Given the description of an element on the screen output the (x, y) to click on. 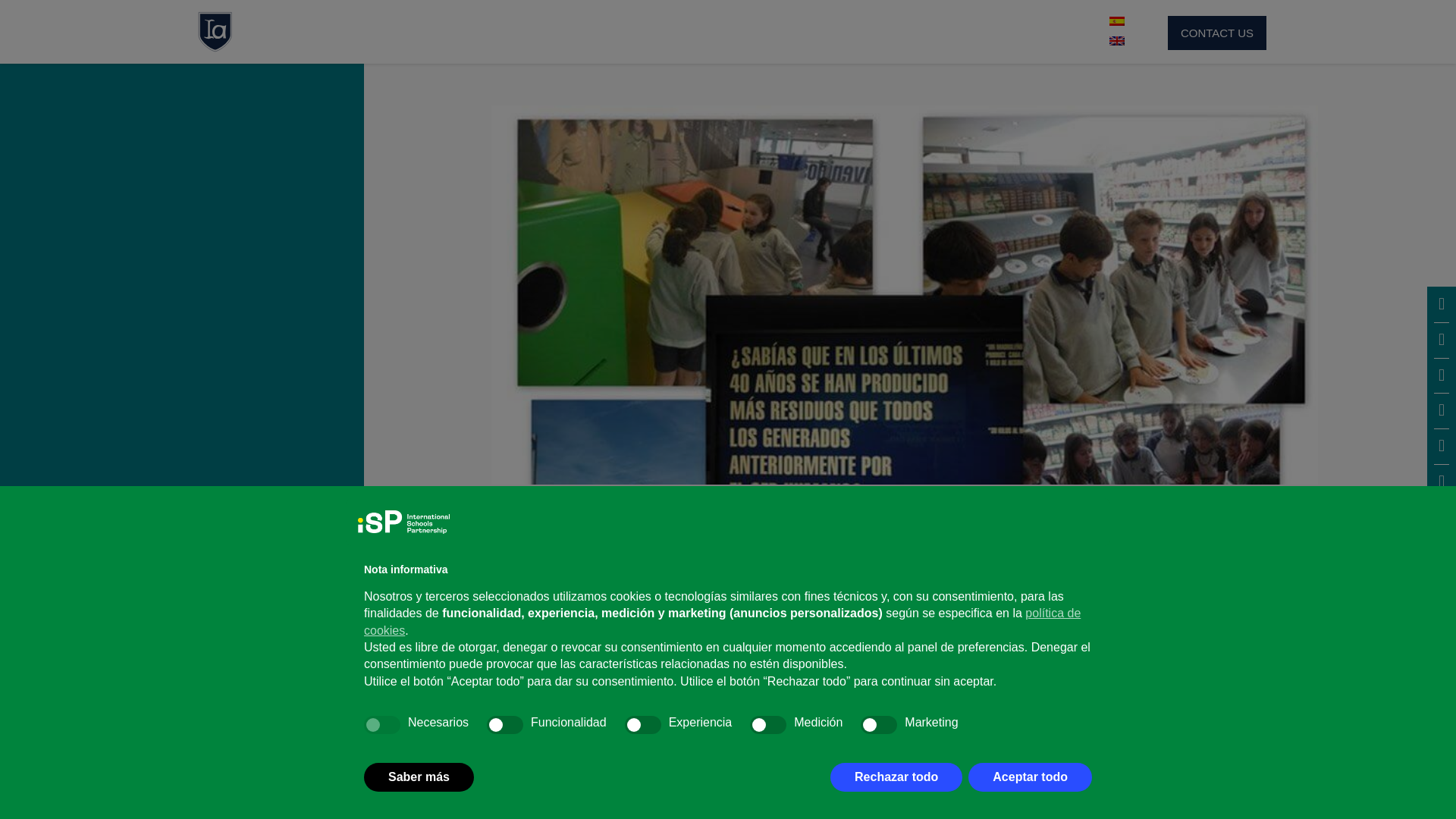
true (382, 724)
false (878, 724)
NEWS (930, 31)
SCHOOL LIFE (809, 31)
false (767, 724)
false (504, 724)
LEARNING (676, 31)
ADMISSIONS (545, 31)
OUR SCHOOL (405, 31)
CONTACT (1035, 31)
false (642, 724)
CONTACT US (1216, 32)
